Given the description of an element on the screen output the (x, y) to click on. 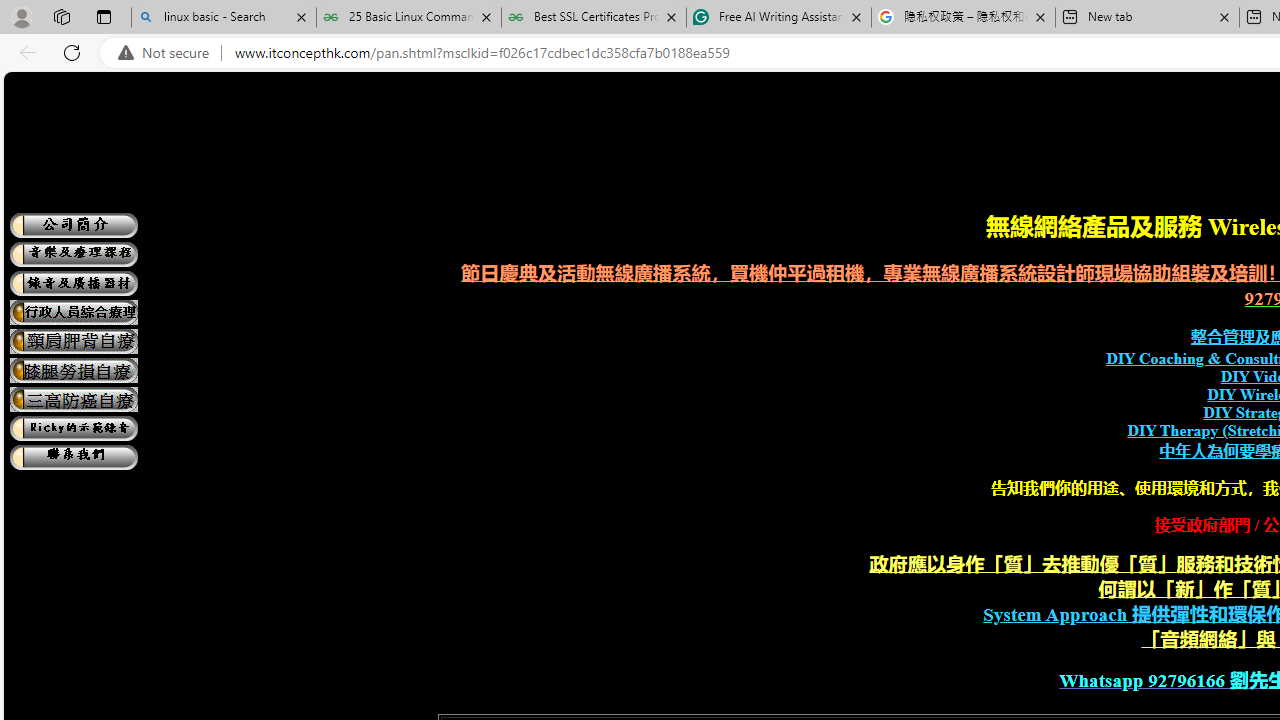
Not secure (168, 53)
Best SSL Certificates Provider in India - GeeksforGeeks (593, 17)
Free AI Writing Assistance for Students | Grammarly (779, 17)
25 Basic Linux Commands For Beginners - GeeksforGeeks (408, 17)
